Given the description of an element on the screen output the (x, y) to click on. 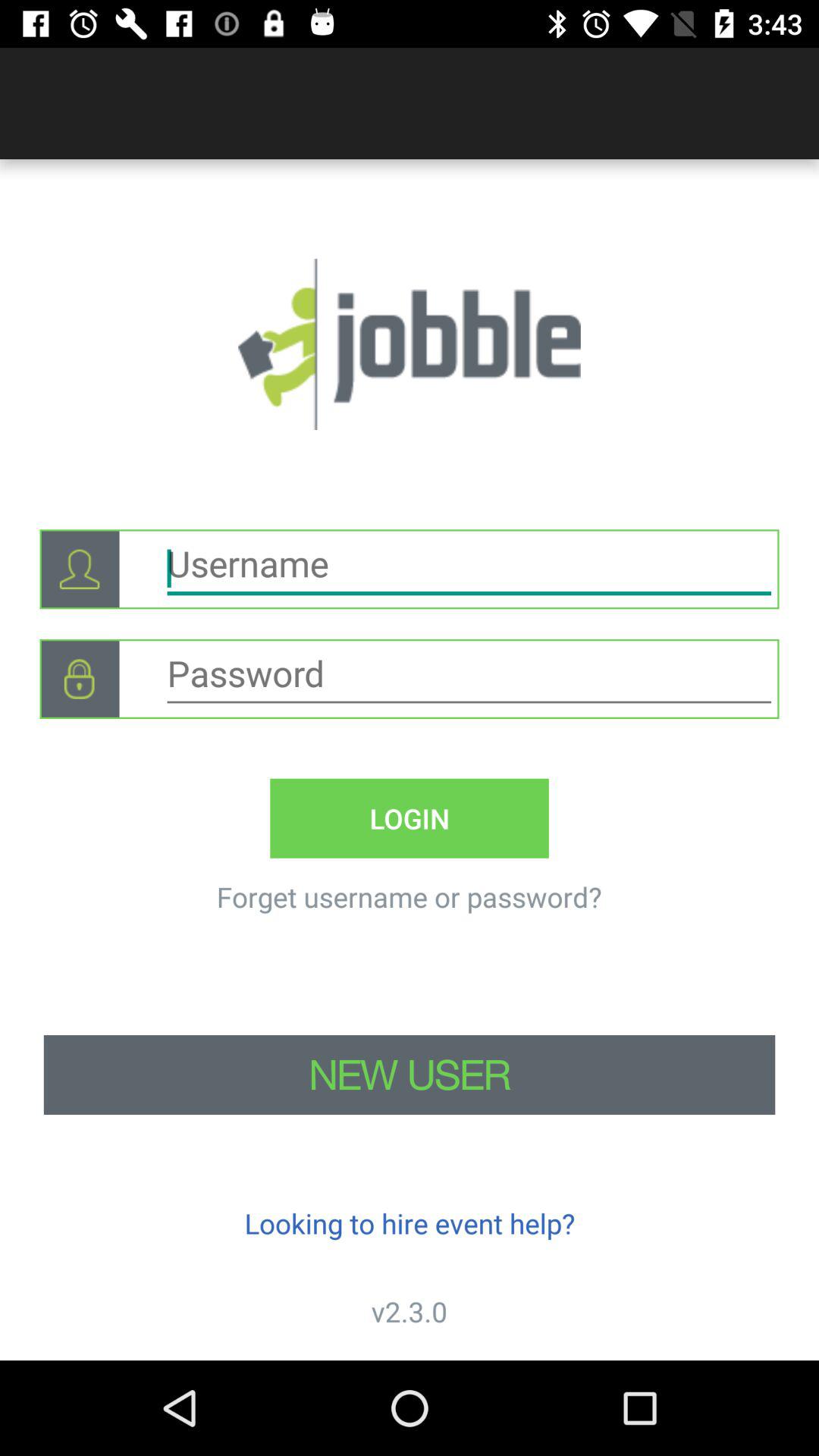
launch looking to hire icon (409, 1223)
